Given the description of an element on the screen output the (x, y) to click on. 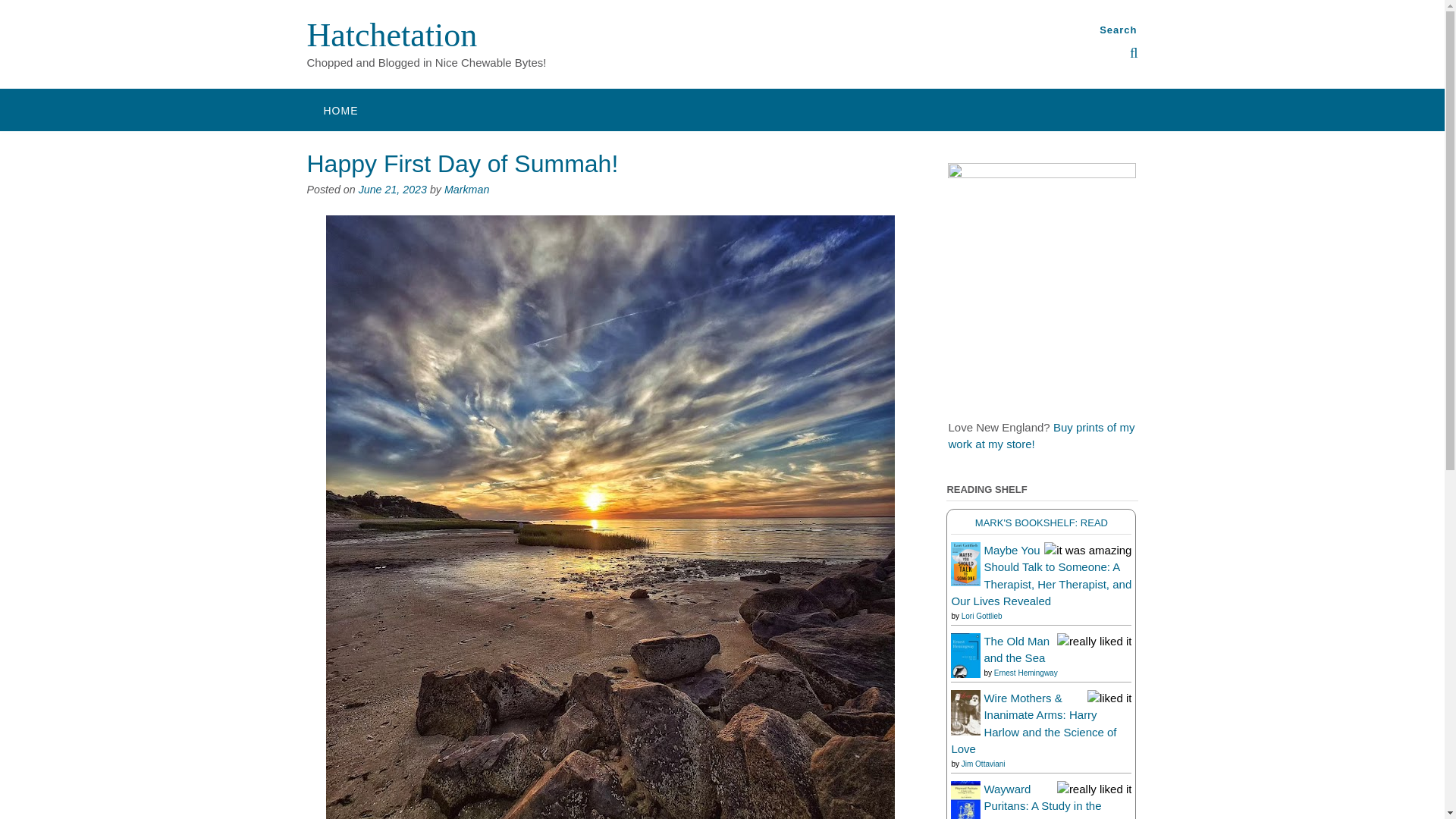
The Old Man and the Sea (964, 673)
it was amazing (1087, 549)
Markman (466, 189)
really liked it (1094, 640)
Wayward Puritans: A Study in the Sociology of Deviance (964, 816)
Hatchetation (391, 35)
HOME (339, 109)
Buy prints of my work at my store! (1040, 435)
